Given the description of an element on the screen output the (x, y) to click on. 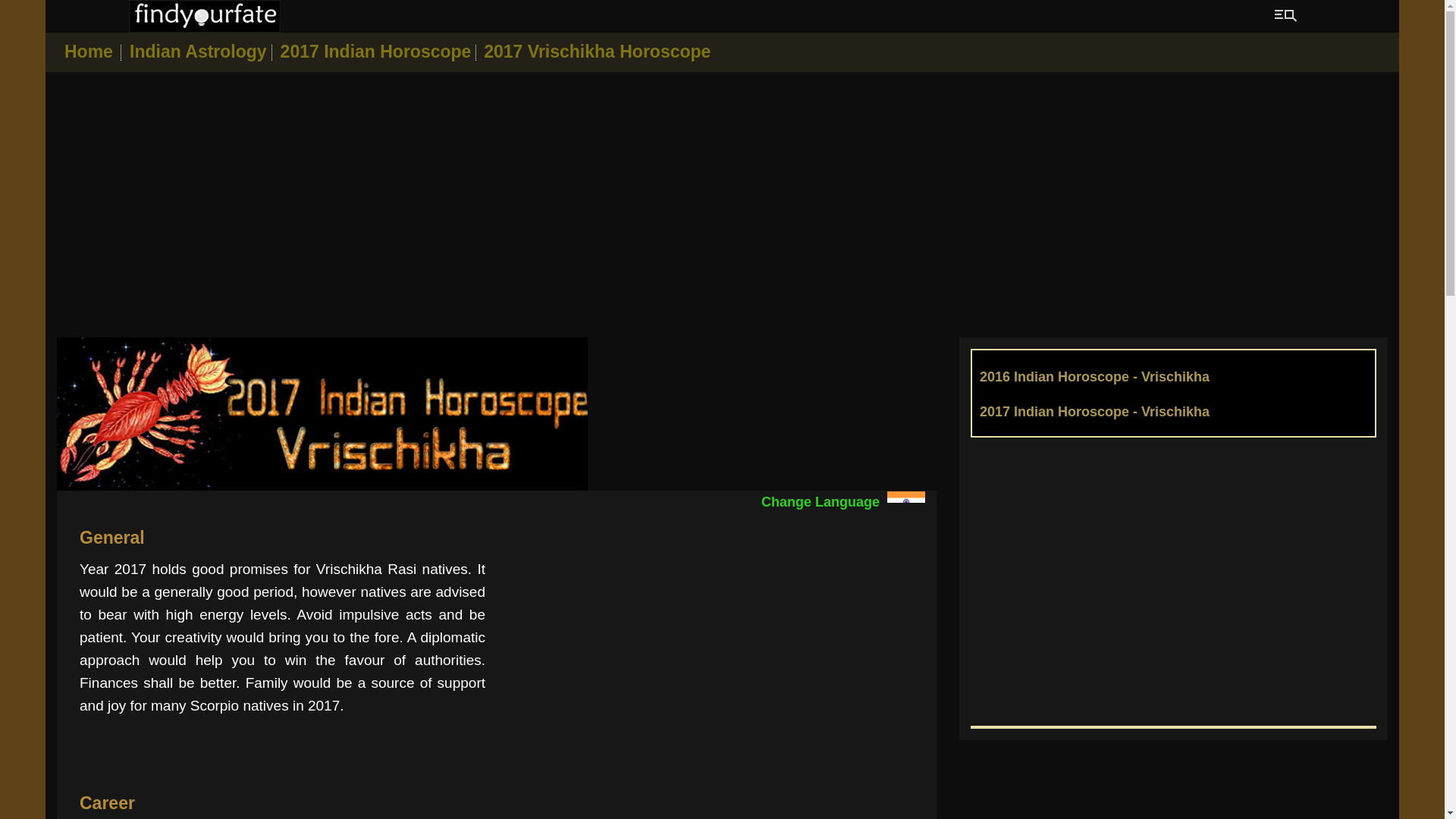
2017 Vrischikha Horoscope (596, 51)
2016 Indian Horoscope - Vrischikha (1094, 376)
Home (88, 51)
2017 Indian Horoscope - Vrischikha (1094, 411)
Change Language   (842, 501)
2017 Vrischikha Horoscopes (322, 413)
2017 Indian Horoscope (376, 51)
Indian Astrology (199, 51)
Hindi (905, 503)
